Given the description of an element on the screen output the (x, y) to click on. 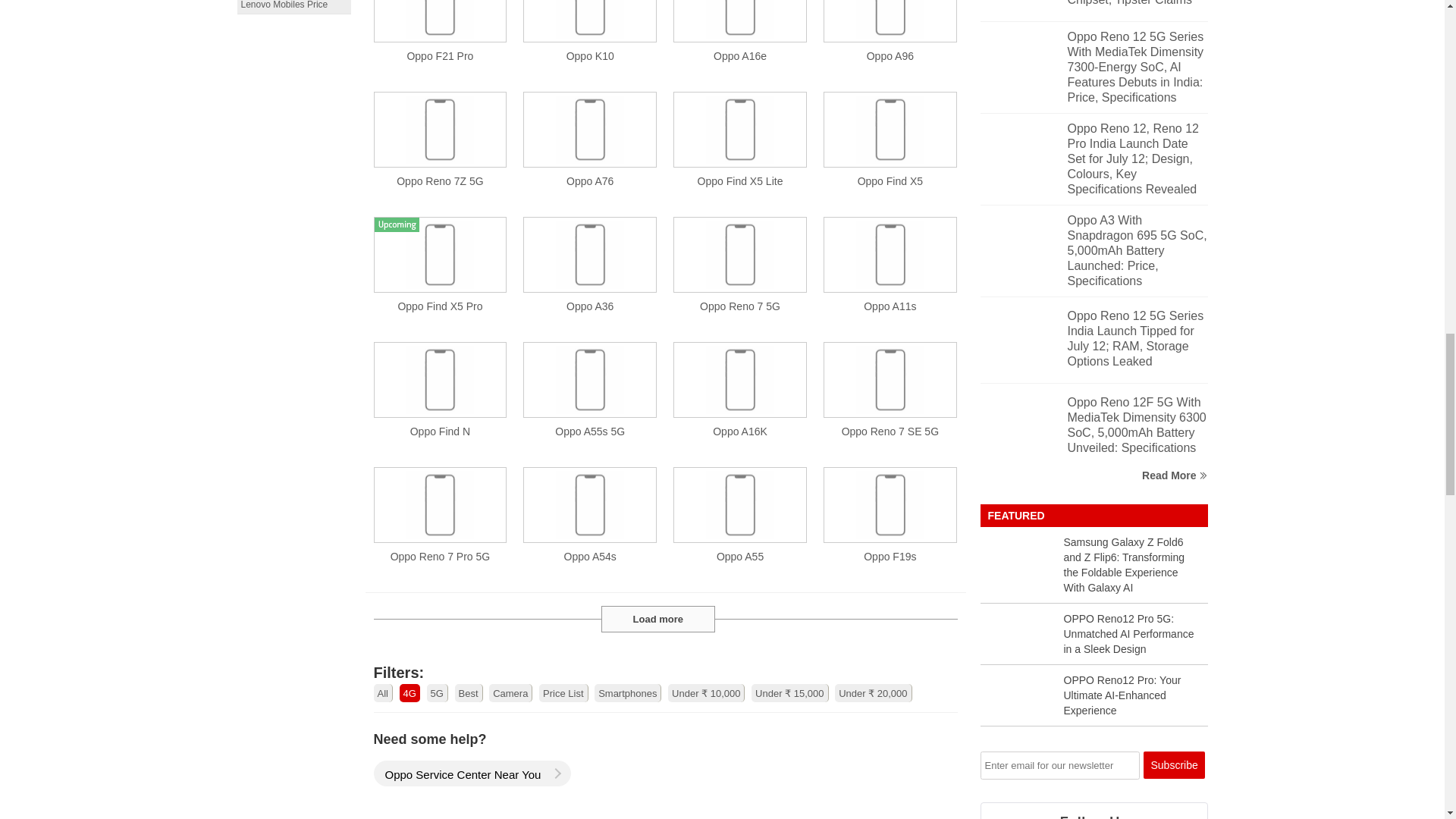
Subscribe (1173, 764)
